Given the description of an element on the screen output the (x, y) to click on. 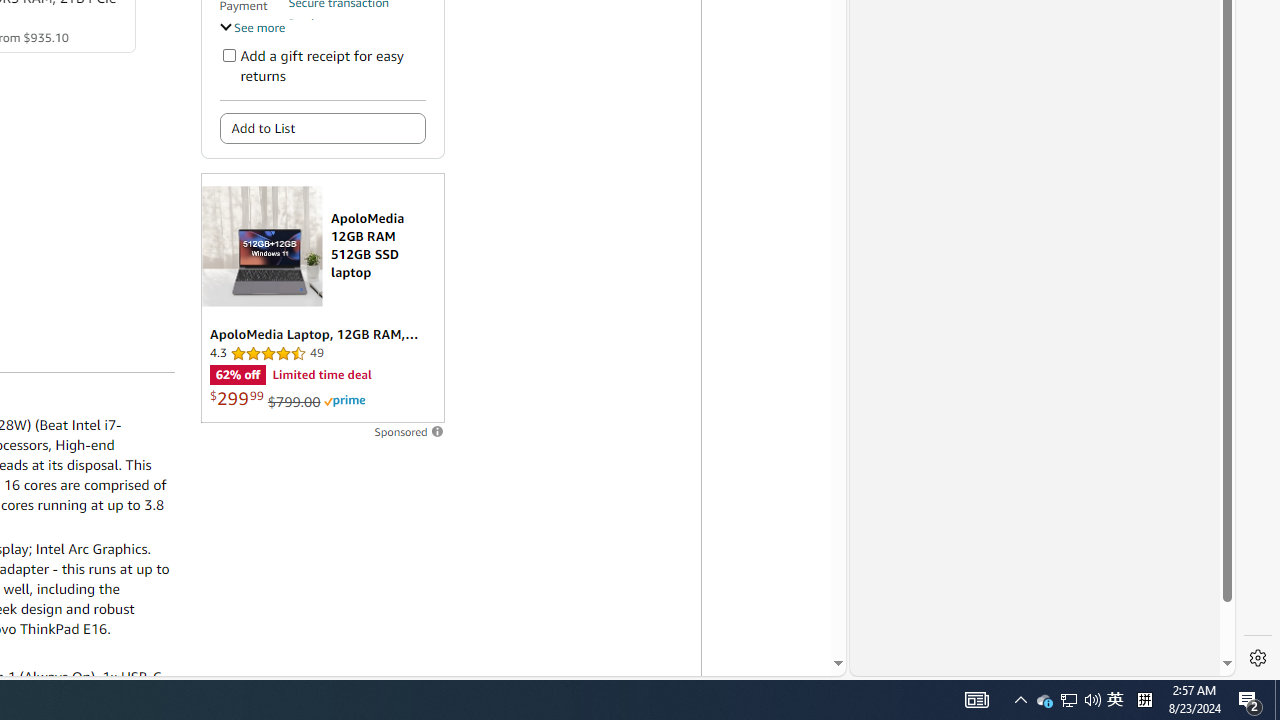
Sponsored ad (322, 297)
Add a gift receipt for easy returns (228, 54)
Add to List (322, 128)
Prime (344, 400)
See more (251, 26)
Product support included (357, 31)
